Given the description of an element on the screen output the (x, y) to click on. 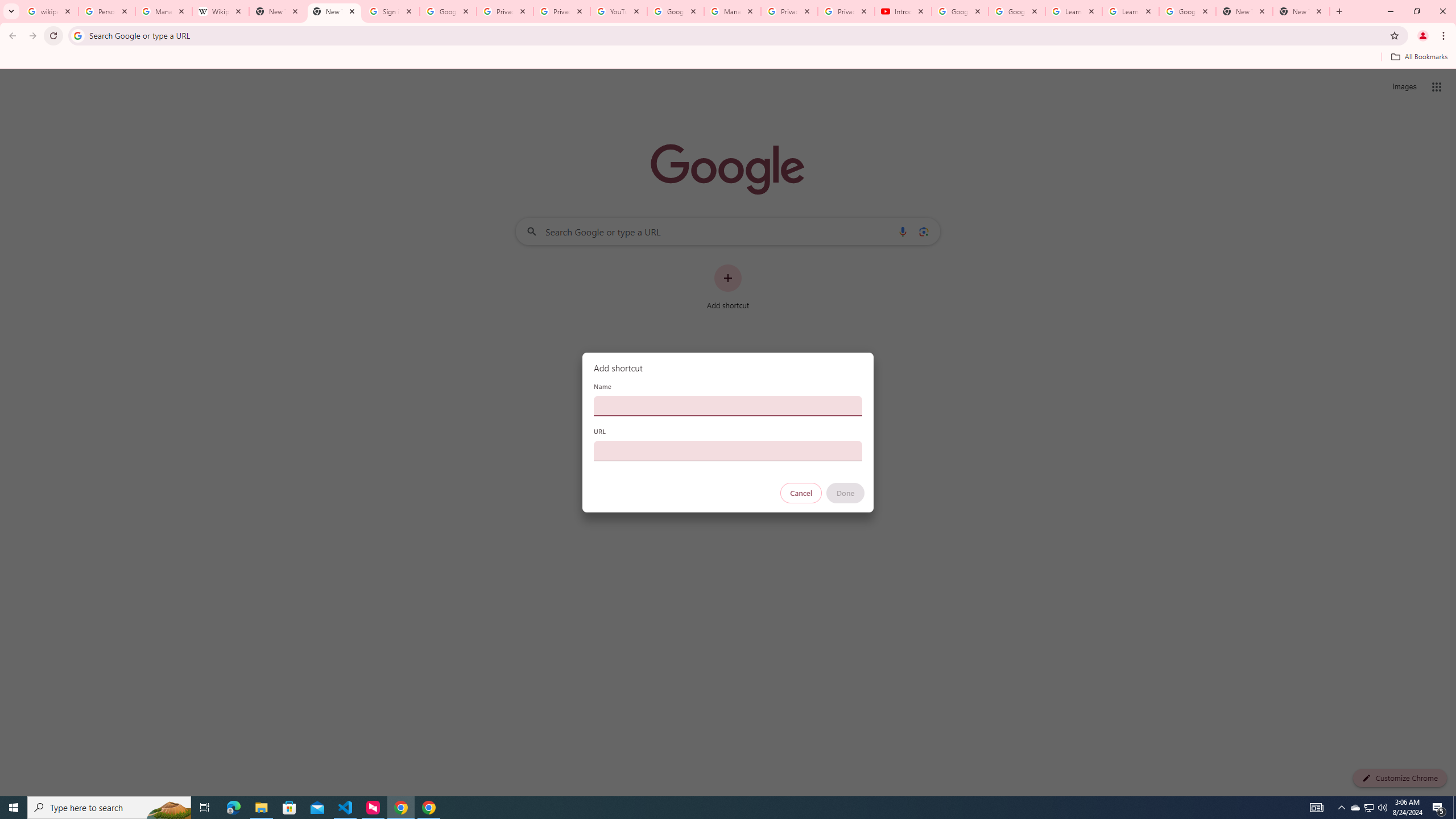
YouTube (618, 11)
Google Account Help (959, 11)
Bookmarks (728, 58)
Name (727, 405)
Google Account (1187, 11)
Google Drive: Sign-in (447, 11)
Personalization & Google Search results - Google Search Help (105, 11)
